Given the description of an element on the screen output the (x, y) to click on. 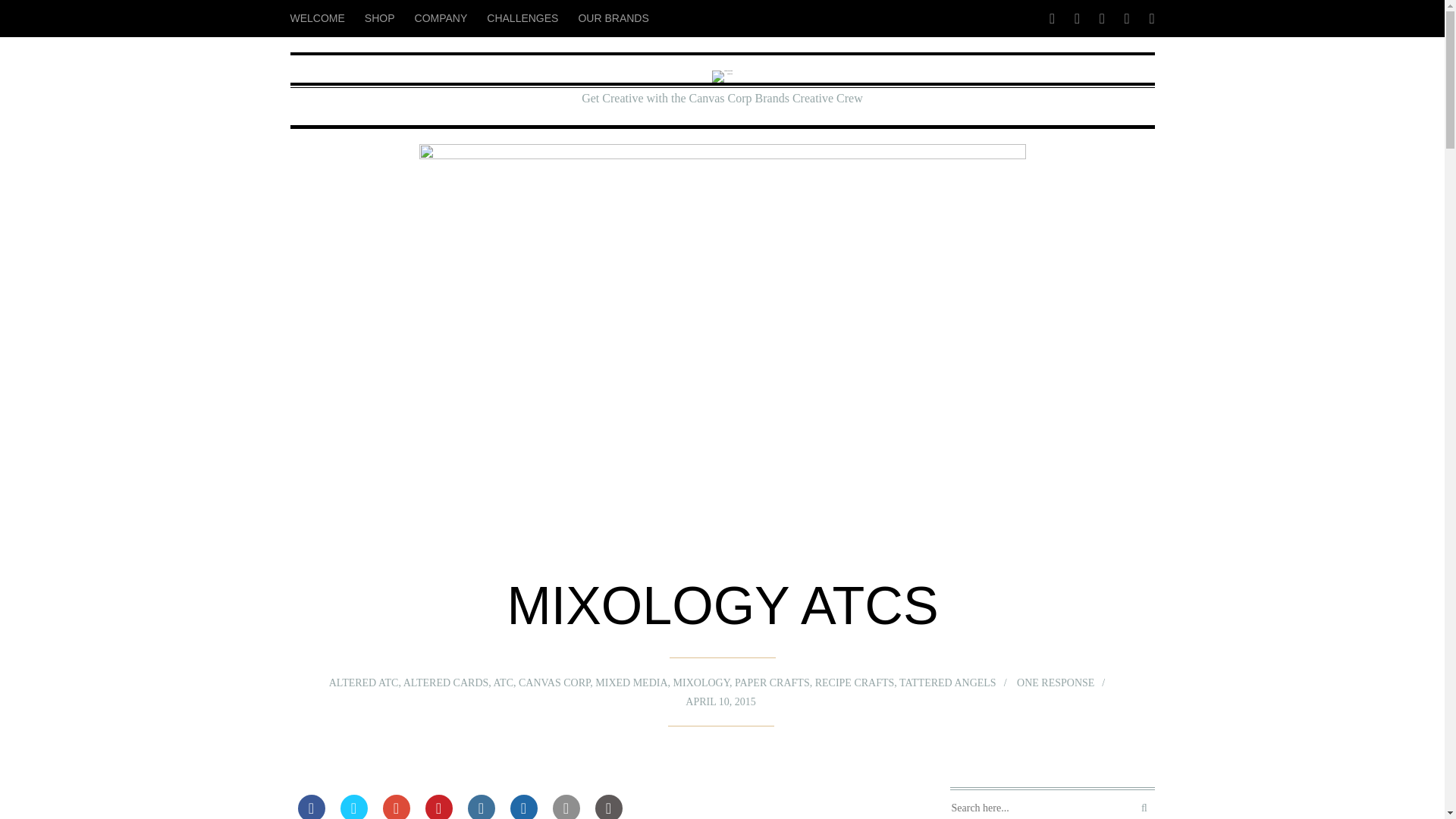
Share on Digg (523, 806)
Share on Facebook (310, 806)
CHALLENGES (522, 13)
ALTERED ATC (345, 684)
SHOP (379, 12)
ATC (490, 684)
RECIPE CRAFTS (845, 679)
APRIL 10, 2015 (723, 696)
PAPER CRAFTS (770, 680)
TATTERED ANGELS (929, 679)
Share on Pinterest (438, 806)
Share on Twitter (352, 806)
CANVAS CORP (550, 683)
Print (607, 806)
WELCOME (321, 11)
